Given the description of an element on the screen output the (x, y) to click on. 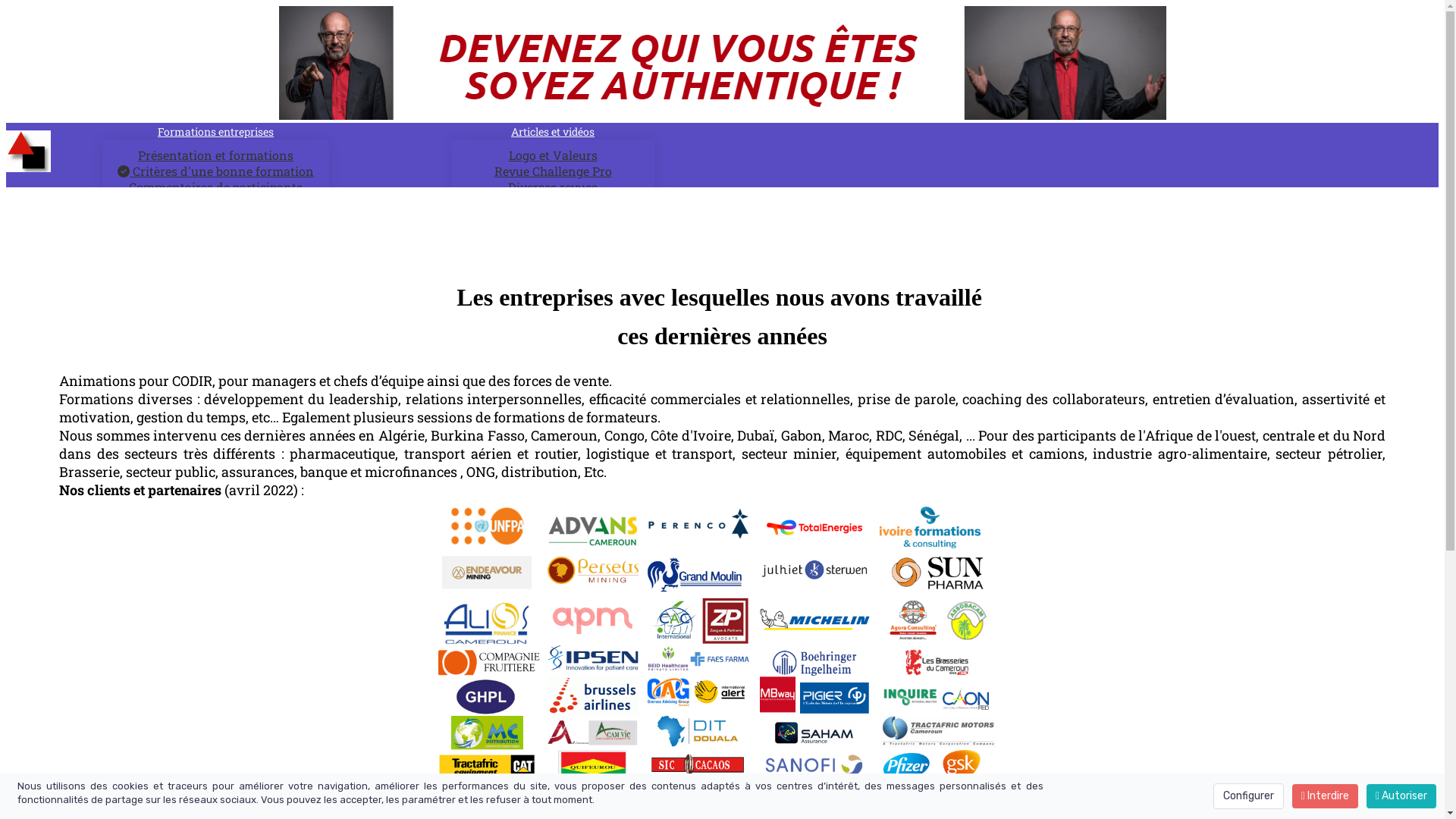
Profil Linkedin Element type: text (373, 276)
Le blog de Bernard Element type: text (388, 219)
Formations entreprises Element type: text (215, 131)
Me contacter Element type: text (470, 276)
Logo et Valeurs Element type: text (552, 154)
Autoriser Element type: text (1401, 796)
Revue Challenge Pro Element type: text (552, 170)
Accueil Element type: text (73, 219)
Configurer Element type: text (1248, 796)
Commentaires de participants Element type: text (215, 186)
Chaine YouTube Element type: text (552, 202)
Diverses revues Element type: text (552, 186)
Interdire Element type: text (1325, 796)
